Given the description of an element on the screen output the (x, y) to click on. 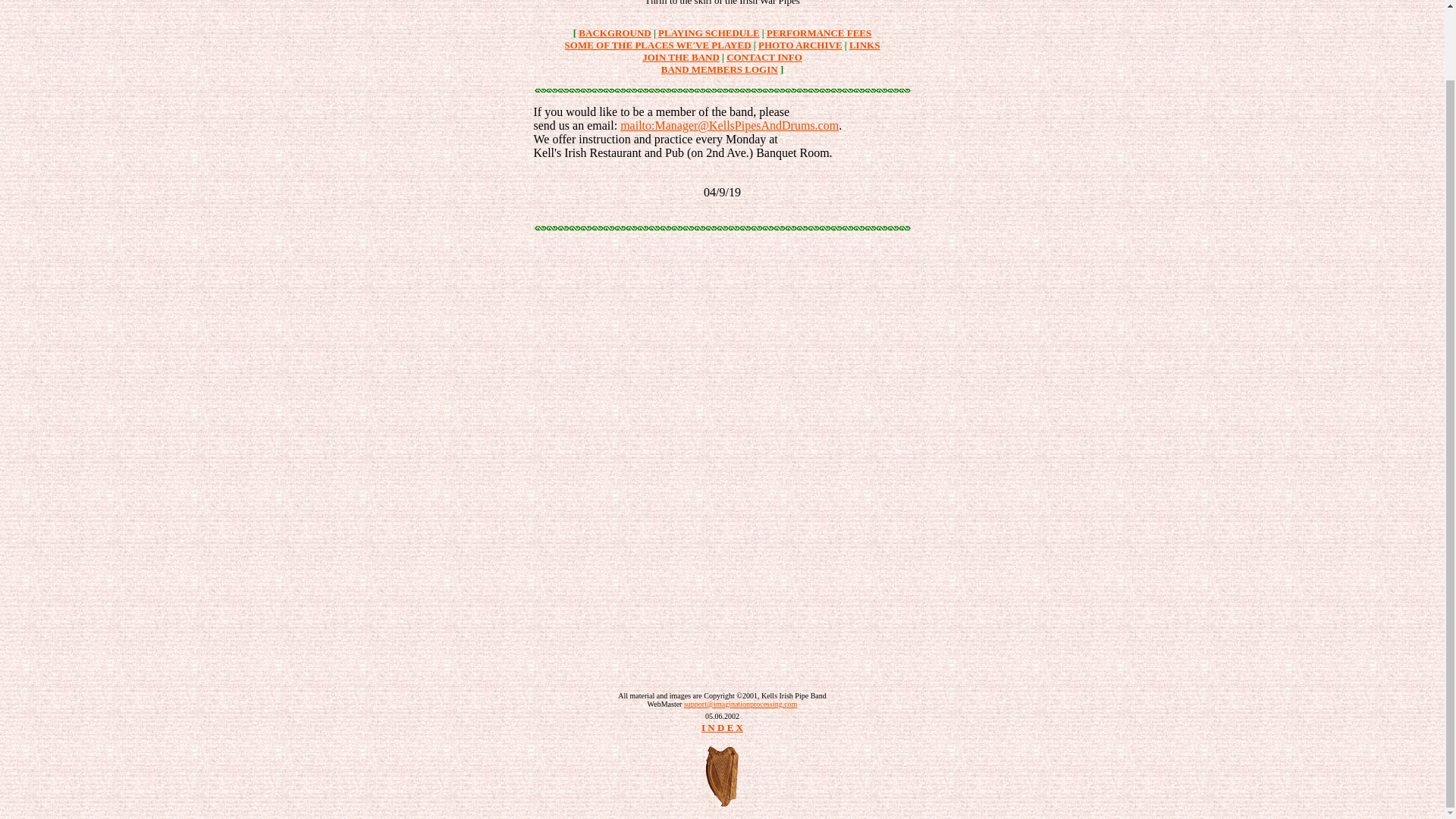
JOIN THE BAND (680, 57)
SOME OF THE PLACES WE'VE PLAYED (657, 44)
PERFORMANCE FEES (818, 32)
BAND MEMBERS LOGIN (719, 69)
PHOTO ARCHIVE (800, 44)
CONTACT INFO (764, 57)
PLAYING SCHEDULE (709, 32)
LINKS (863, 44)
I N D E X (721, 726)
BACKGROUND (614, 32)
